Given the description of an element on the screen output the (x, y) to click on. 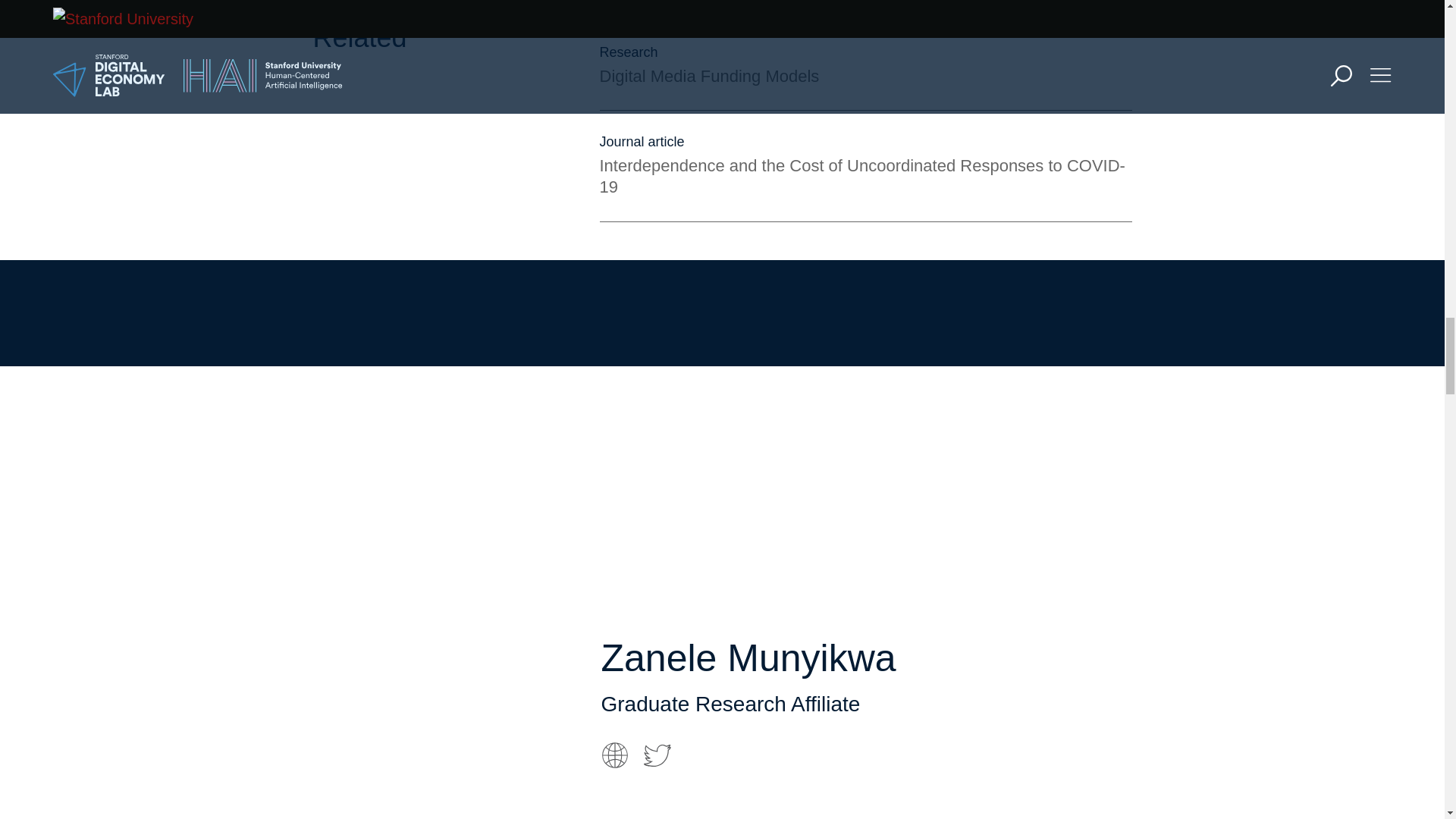
Digital Media Funding Models (708, 76)
twitter (656, 755)
website (613, 755)
Back to People (670, 292)
